Given the description of an element on the screen output the (x, y) to click on. 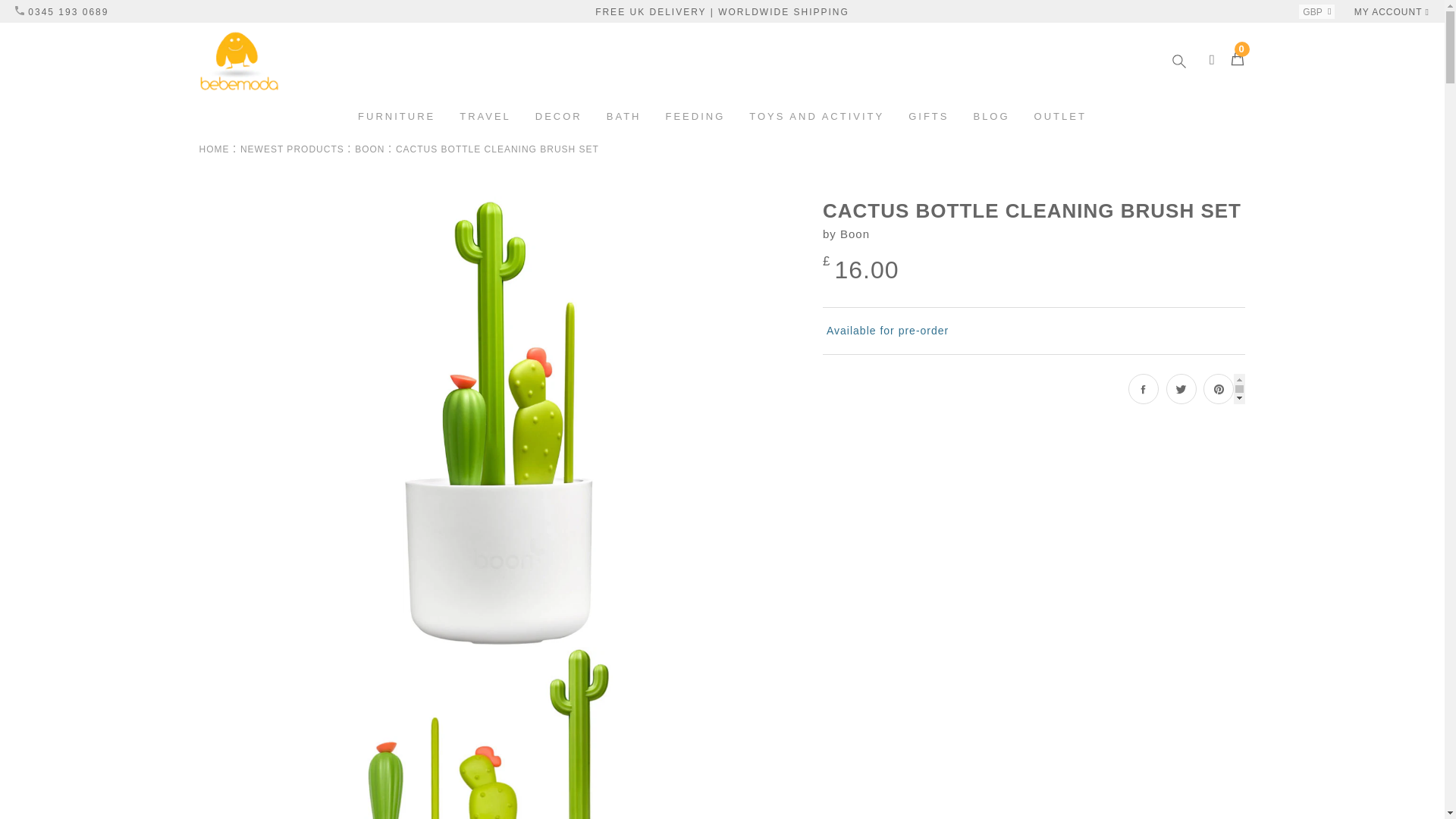
FURNITURE (396, 116)
0345 193 0689 (60, 11)
MY ACCOUNT (1391, 11)
Pin it (1218, 388)
Boon (854, 233)
Home (213, 149)
Tweet (1181, 388)
Share (1143, 388)
Boon (369, 149)
